Given the description of an element on the screen output the (x, y) to click on. 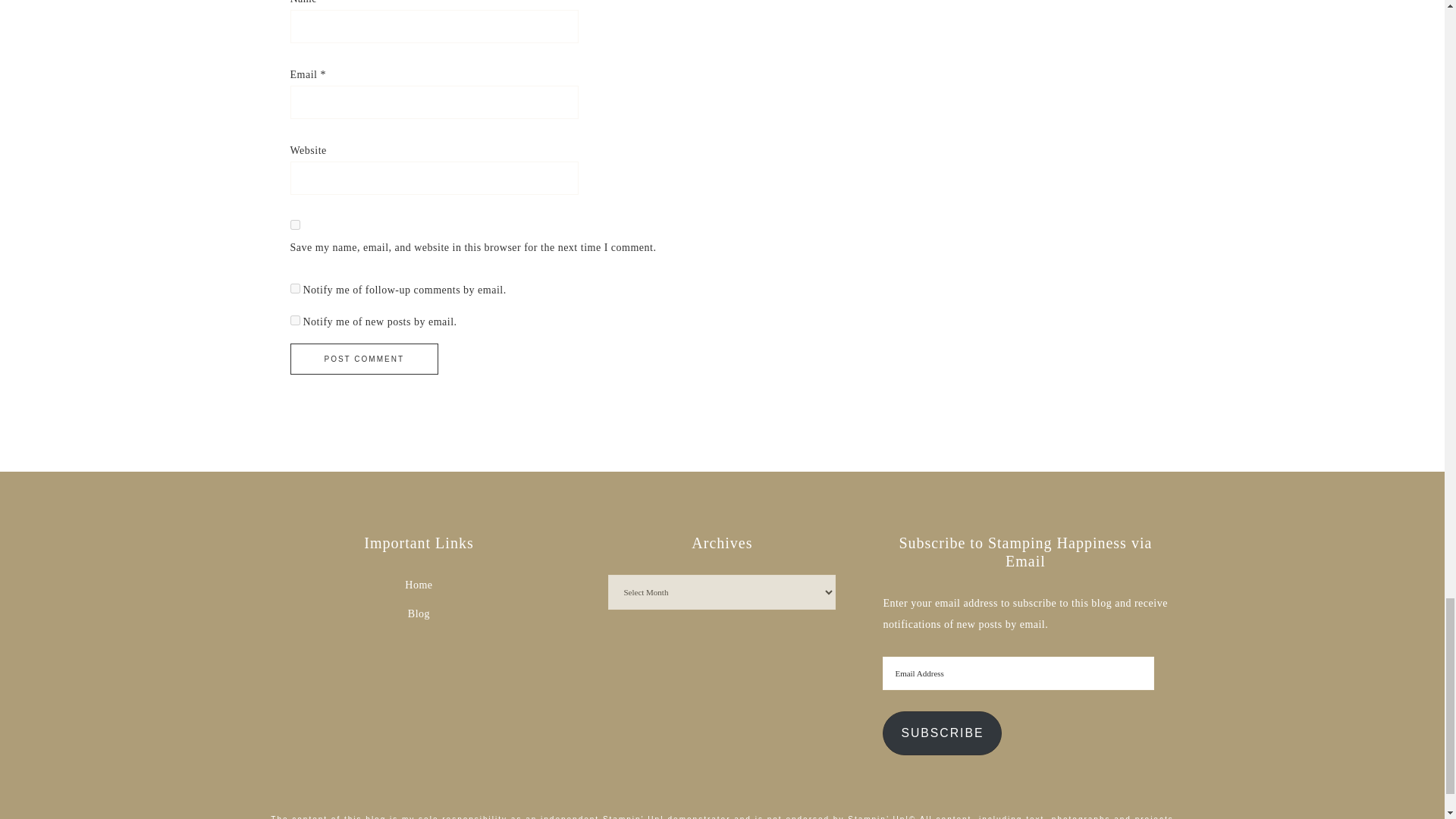
yes (294, 225)
Post Comment (363, 358)
Post Comment (363, 358)
subscribe (294, 288)
subscribe (294, 320)
